Given the description of an element on the screen output the (x, y) to click on. 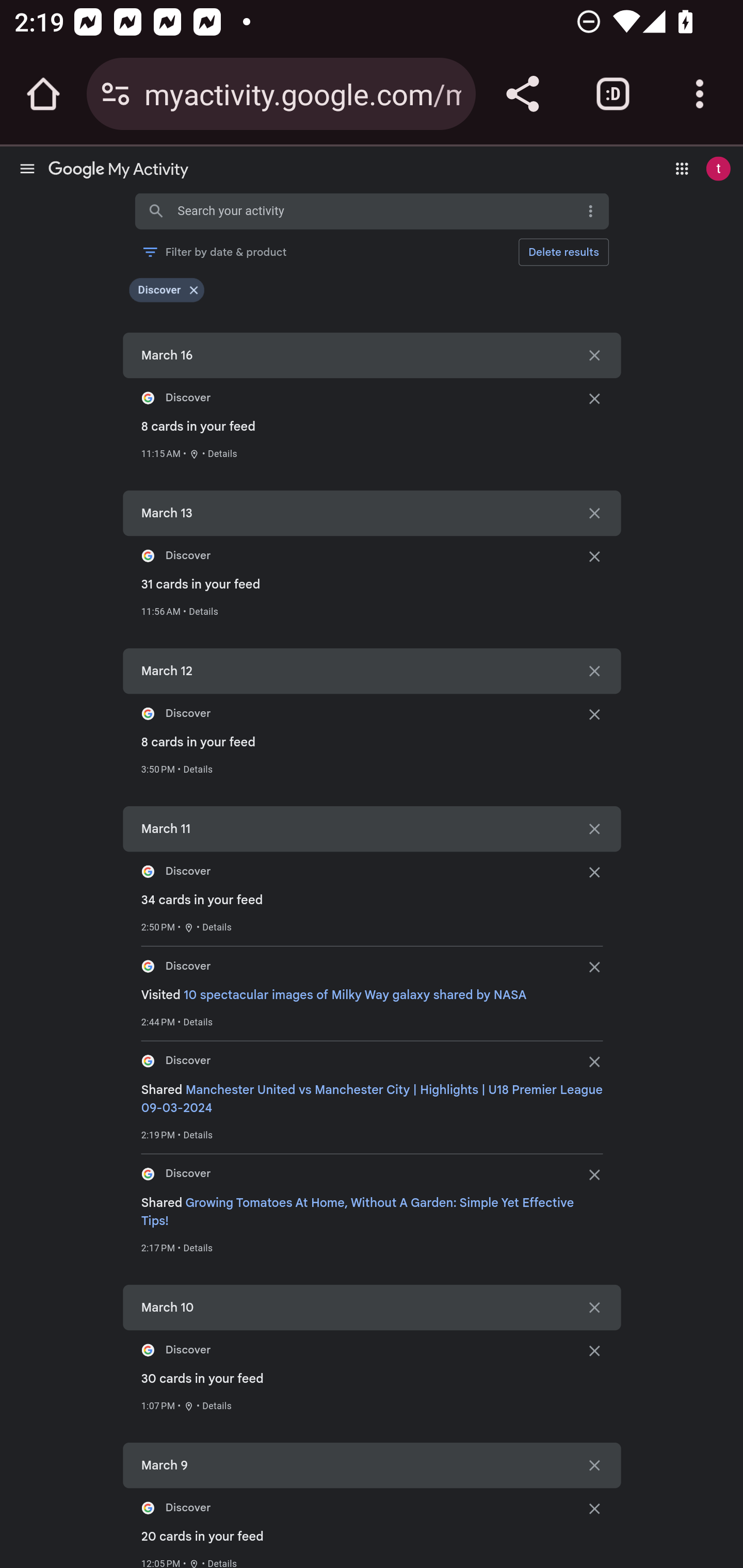
Open the home page (43, 93)
Connection is secure (115, 93)
Share (522, 93)
Switch or close tabs (612, 93)
Customize and control Google Chrome (699, 93)
myactivity.google.com/myactivity?product=50 (302, 92)
Main menu (27, 168)
Google apps (681, 168)
My Activity (118, 170)
Search (155, 211)
More menu options (590, 211)
Filter by date & product (213, 251)
Delete (563, 251)
Discover (159, 289)
Delete all activity from March 16. (593, 355)
Delete activity item 8 cards in your feed (593, 398)
Open details of activity "8 cards in your feed" (221, 453)
Delete all activity from March 13. (593, 512)
Delete activity item 31 cards in your feed (593, 556)
Open details of activity "31 cards in your feed" (202, 610)
Delete all activity from March 12. (593, 670)
Delete activity item 8 cards in your feed (593, 713)
Open details of activity "8 cards in your feed" (197, 768)
Delete all activity from March 11. (593, 829)
Delete activity item 34 cards in your feed (593, 871)
Open details of activity "34 cards in your feed" (216, 926)
Delete all activity from March 10. (593, 1307)
Delete activity item 30 cards in your feed (593, 1349)
Open details of activity "30 cards in your feed" (216, 1405)
Delete all activity from March 9. (593, 1464)
Delete activity item 20 cards in your feed (593, 1508)
Open details of activity "20 cards in your feed" (221, 1563)
